Given the description of an element on the screen output the (x, y) to click on. 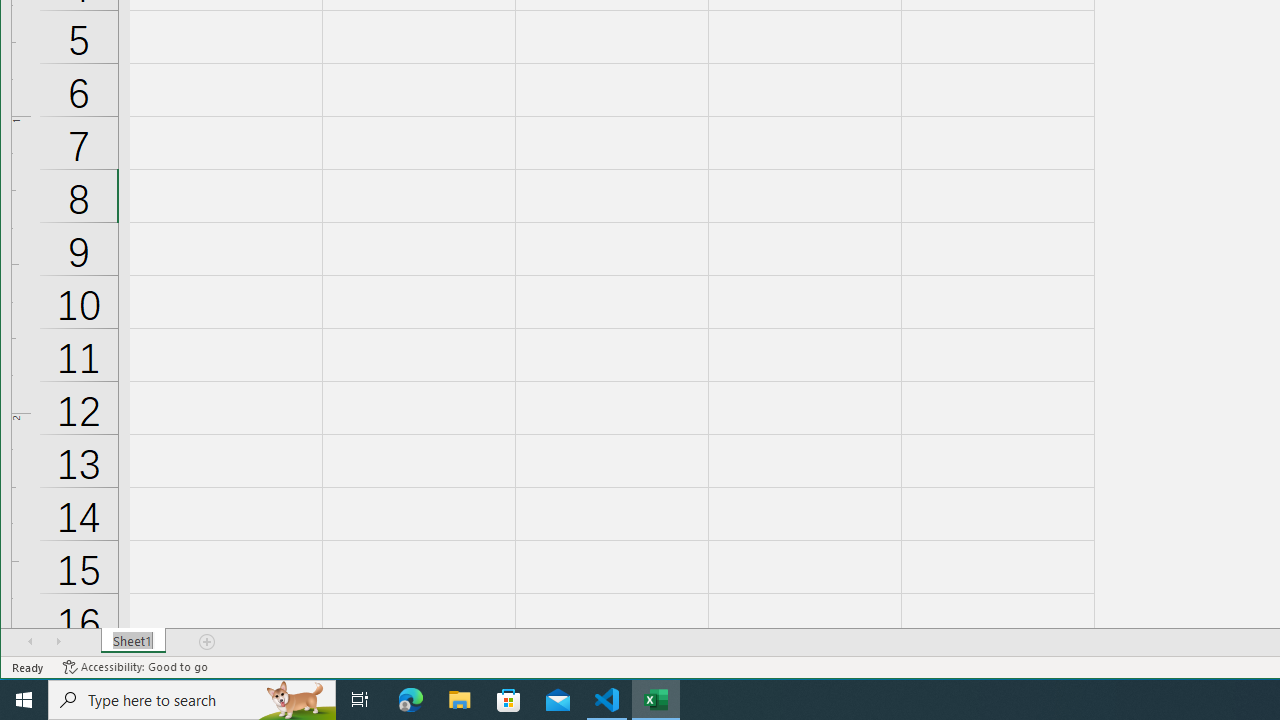
Sheet1 (133, 641)
